Given the description of an element on the screen output the (x, y) to click on. 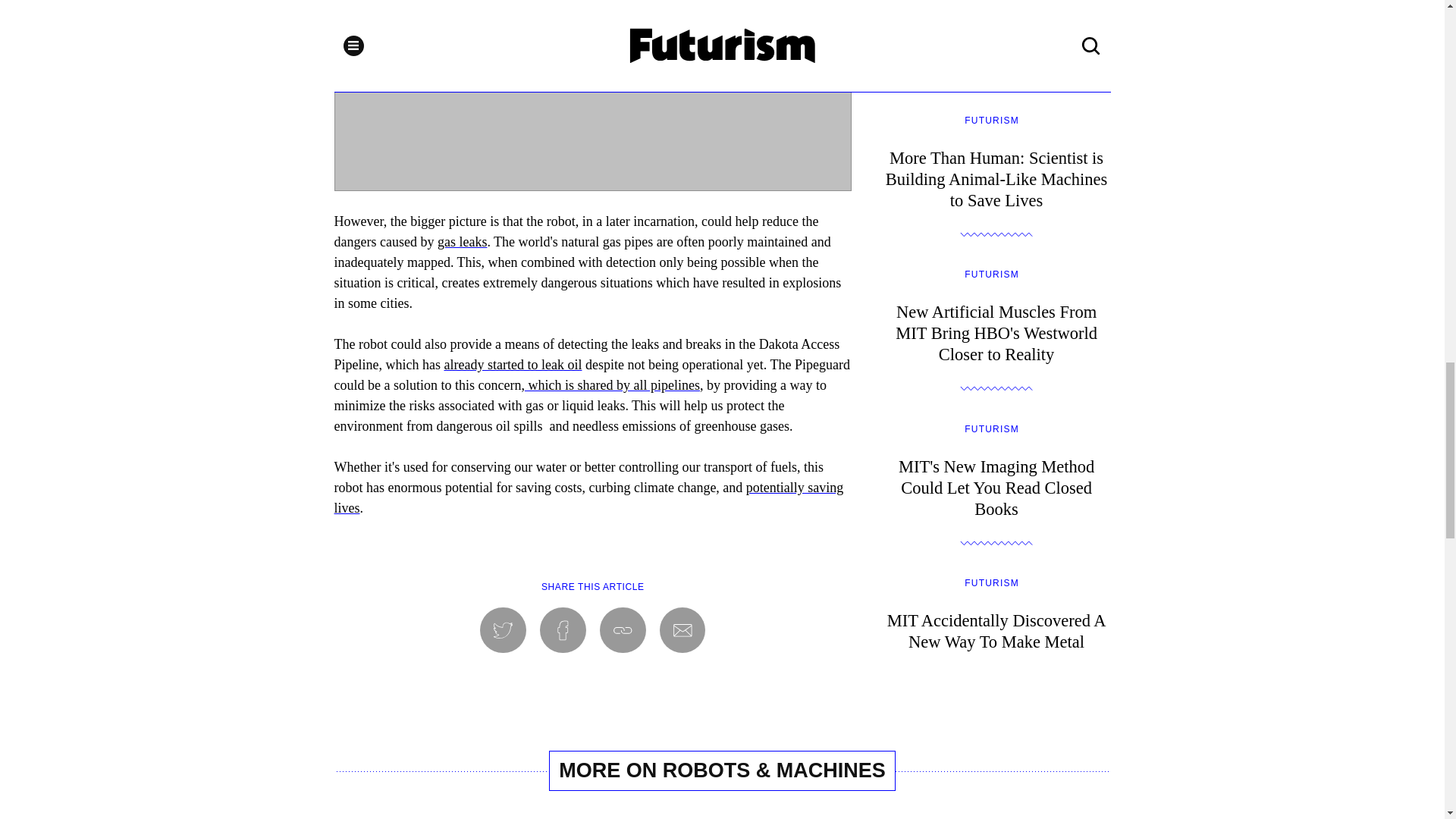
potentially saving lives (588, 497)
Copy Link (622, 630)
Tweet This (996, 624)
which is shared by all pipelines (502, 630)
Share via Email (612, 385)
gas leaks (682, 630)
Share to Facebook (462, 241)
